Given the description of an element on the screen output the (x, y) to click on. 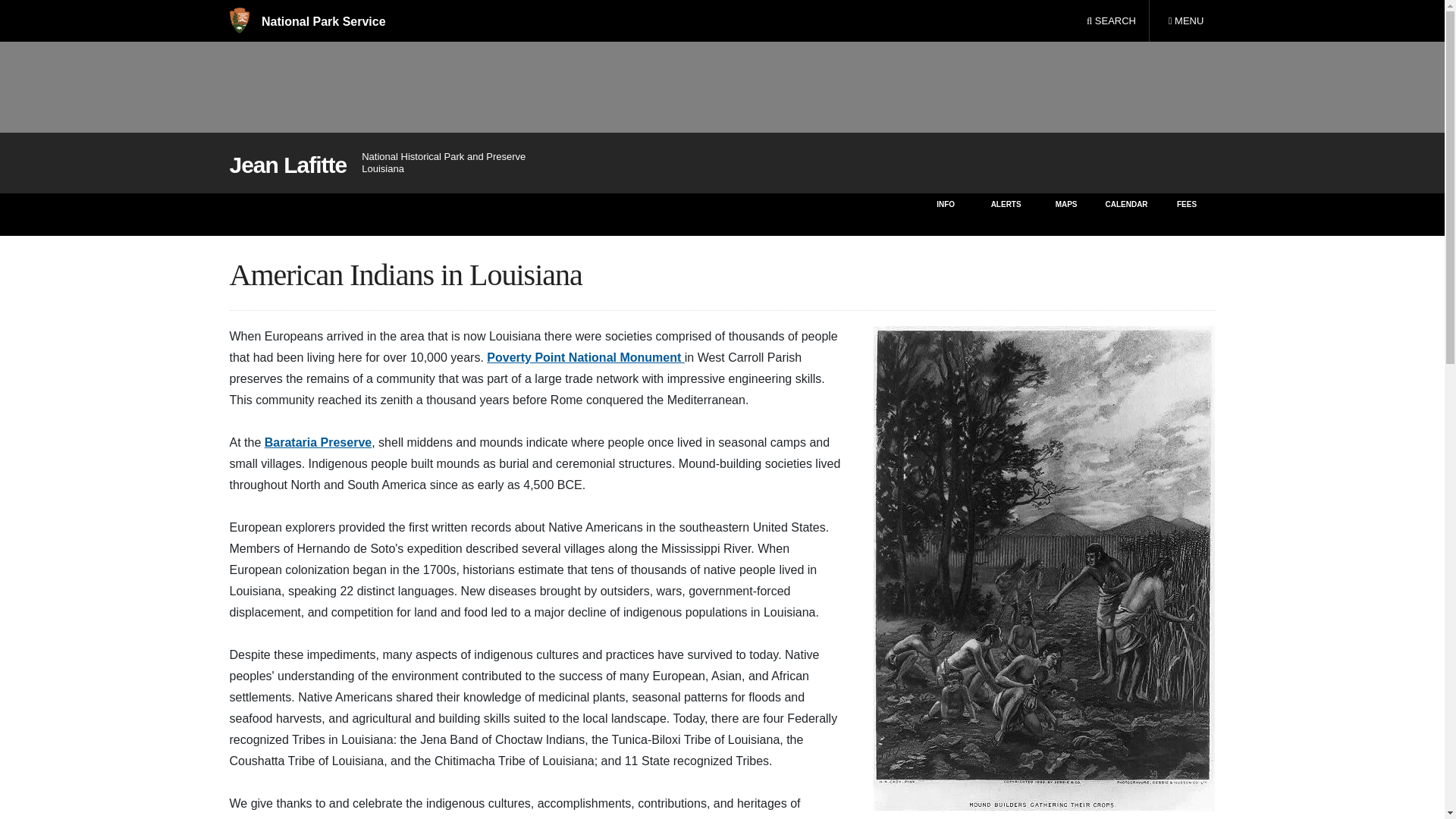
National Park Service (307, 20)
Jean Lafitte (287, 164)
ALERTS (1004, 214)
SEARCH (1111, 20)
INFO (1185, 20)
